Given the description of an element on the screen output the (x, y) to click on. 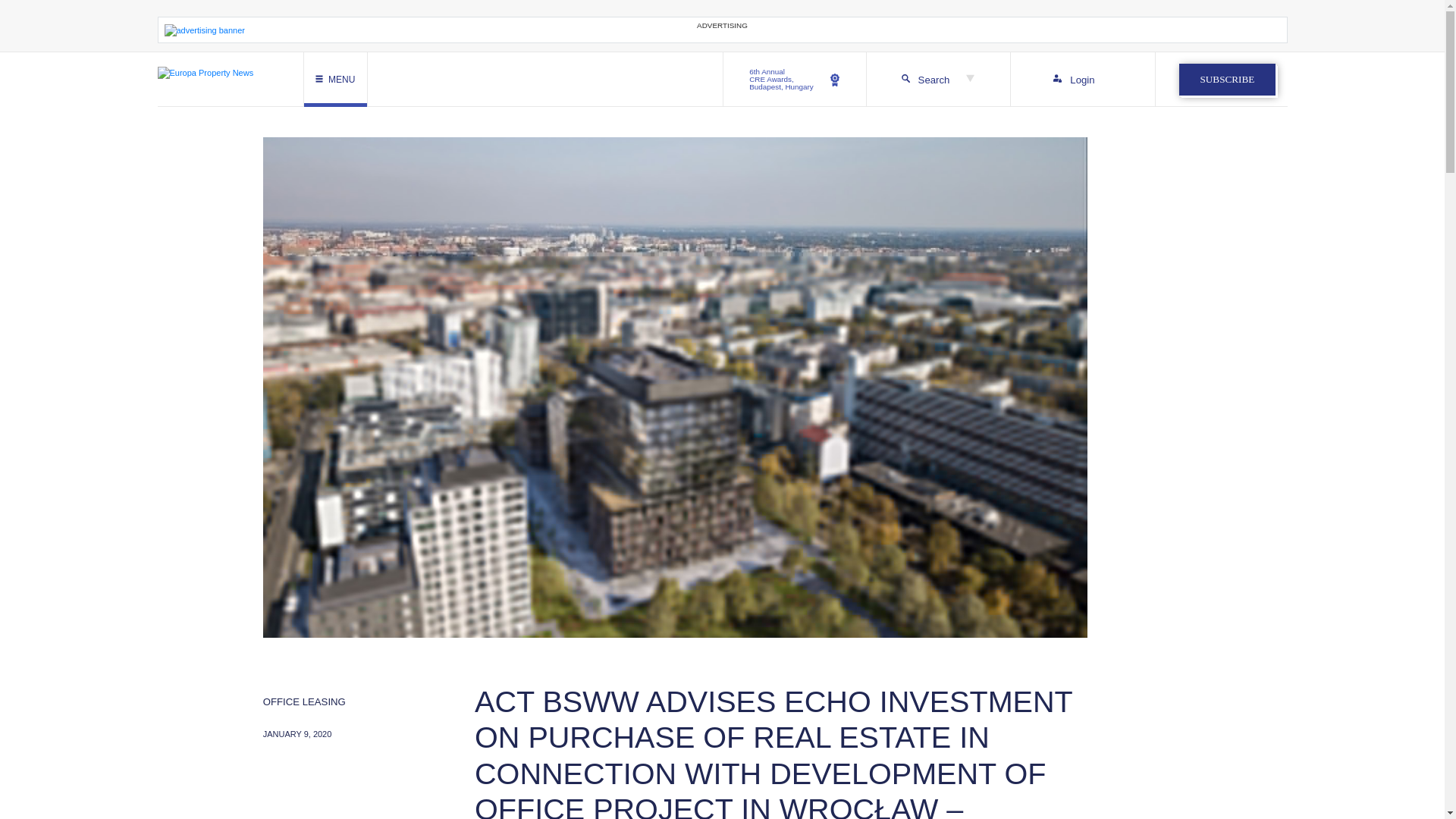
Login (794, 79)
SUBSCRIBE (1082, 79)
OFFICE LEASING (1227, 79)
